Given the description of an element on the screen output the (x, y) to click on. 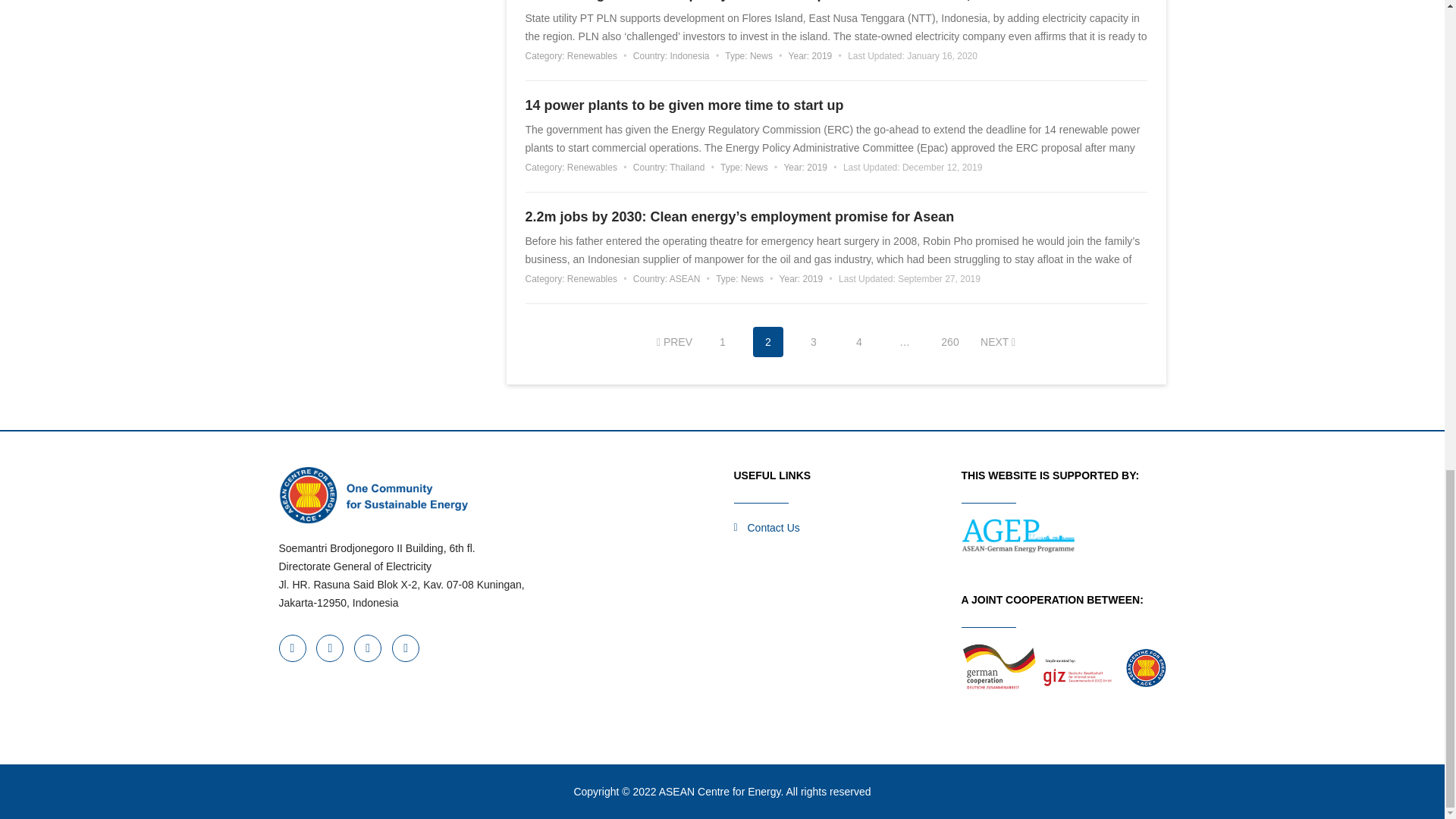
14 power plants to be given more time to start up (835, 105)
1 (722, 341)
PREV (674, 341)
